Given the description of an element on the screen output the (x, y) to click on. 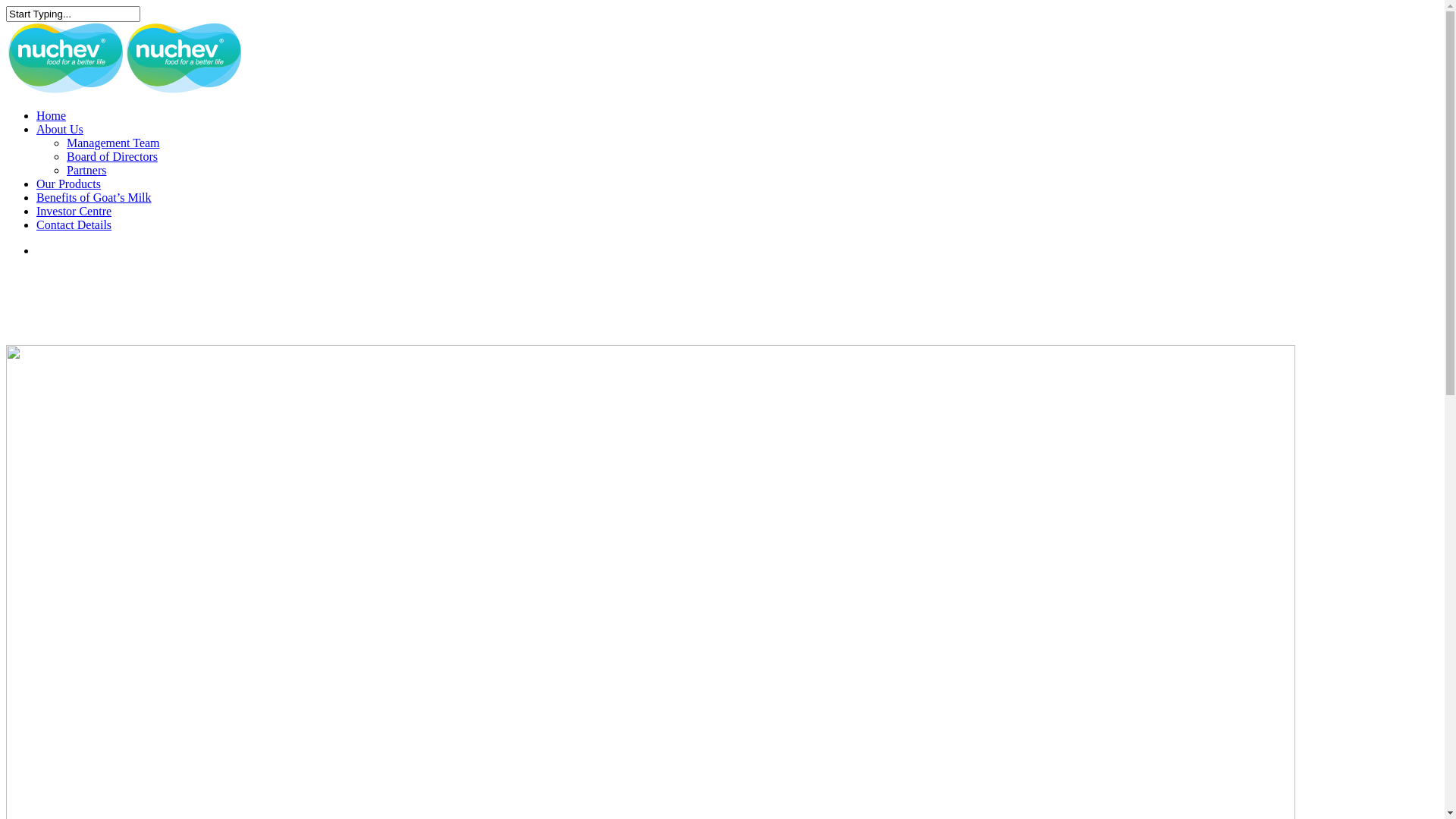
Investor Centre Element type: text (73, 210)
About Us Element type: text (59, 128)
Board of Directors Element type: text (111, 156)
Partners Element type: text (86, 169)
Contact Details Element type: text (73, 224)
Our Products Element type: text (68, 183)
Home Element type: text (50, 115)
Management Team Element type: text (113, 142)
